Given the description of an element on the screen output the (x, y) to click on. 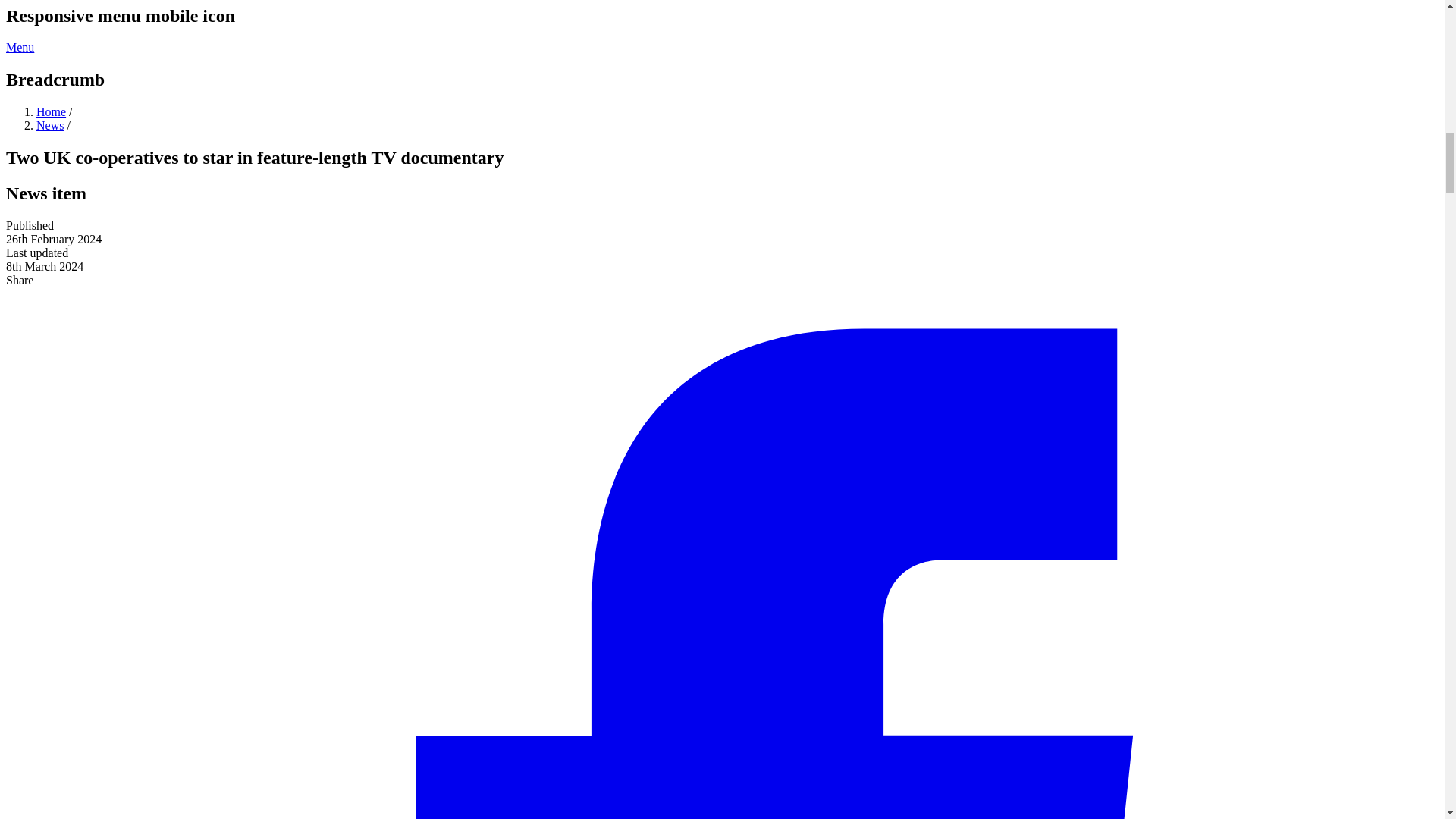
Menu (19, 47)
